Given the description of an element on the screen output the (x, y) to click on. 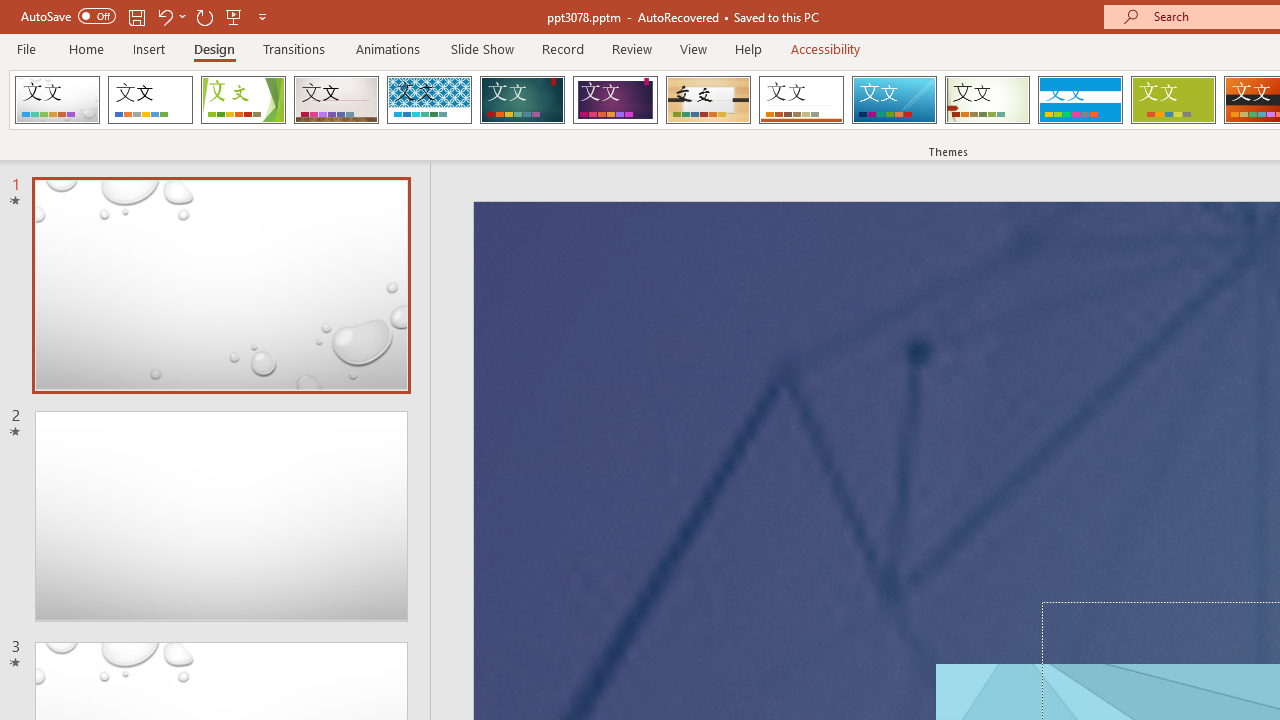
Wisp (987, 100)
Organic (708, 100)
Gallery (336, 100)
Ion (522, 100)
Basis (1172, 100)
Integral (429, 100)
Office Theme (150, 100)
